Given the description of an element on the screen output the (x, y) to click on. 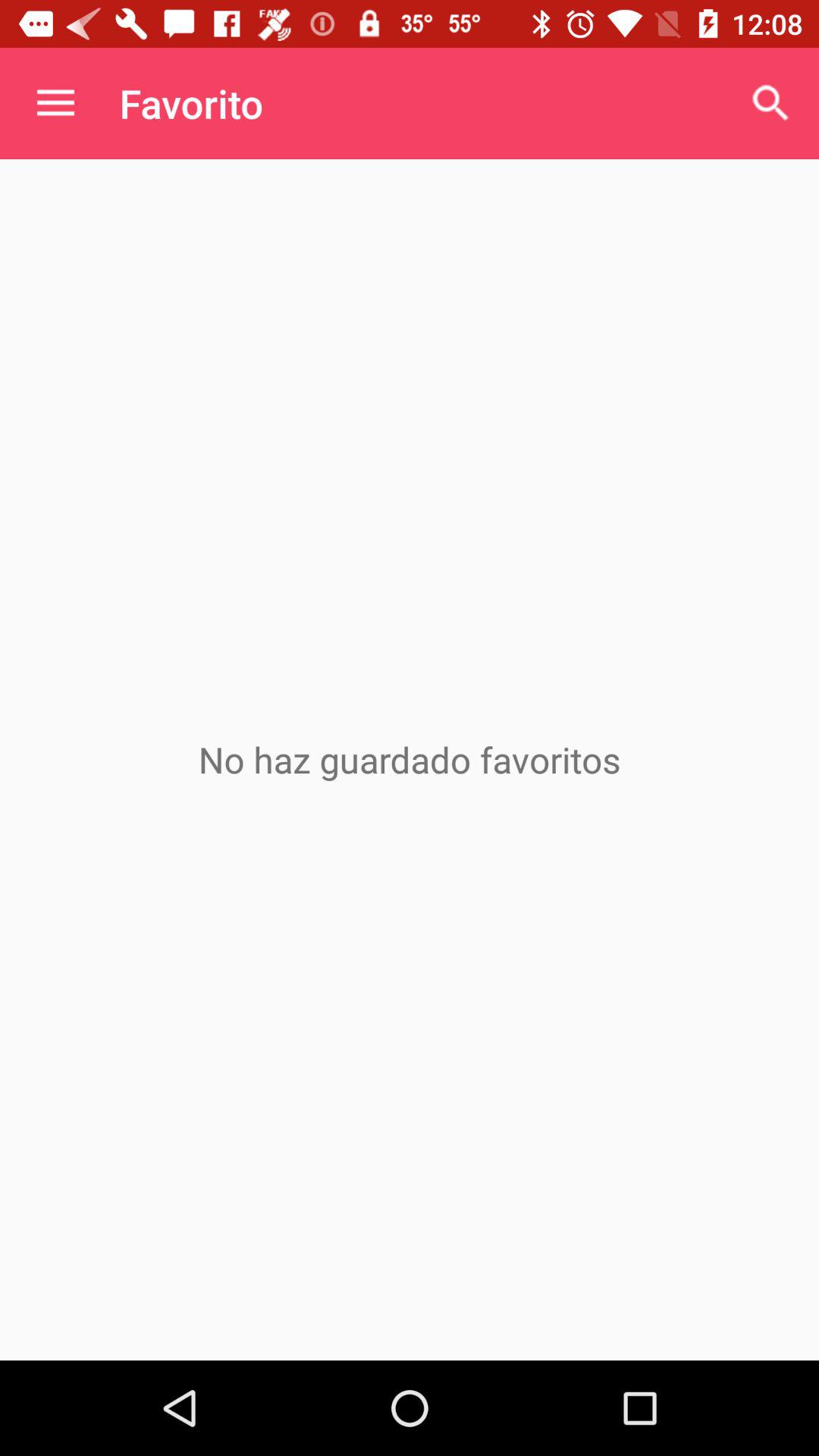
turn off the item next to favorito icon (55, 103)
